Given the description of an element on the screen output the (x, y) to click on. 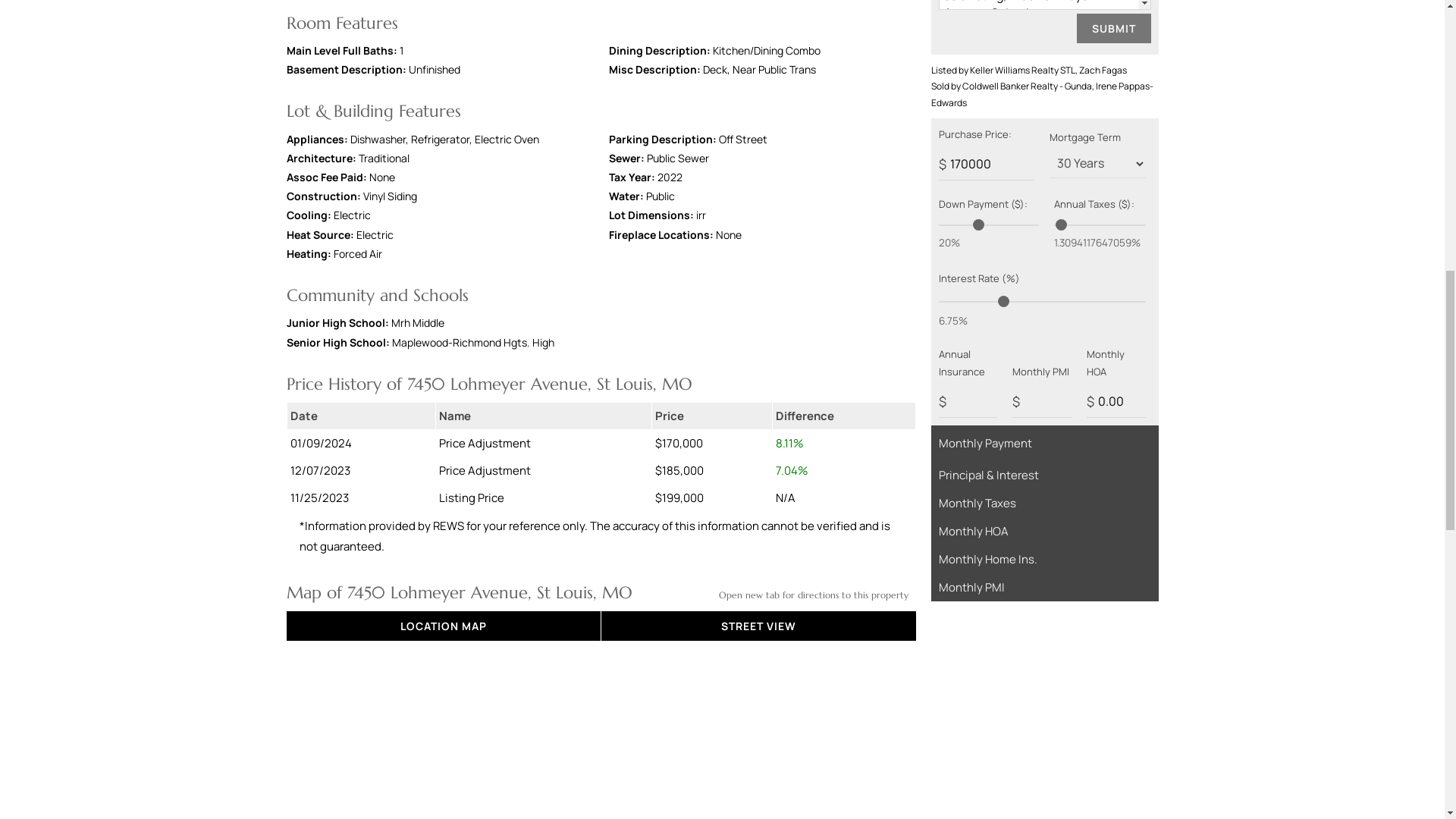
1.3 (1099, 225)
170000 (987, 164)
2226 (1139, 206)
0.00 (1115, 400)
34000 (1032, 206)
20 (989, 225)
